Given the description of an element on the screen output the (x, y) to click on. 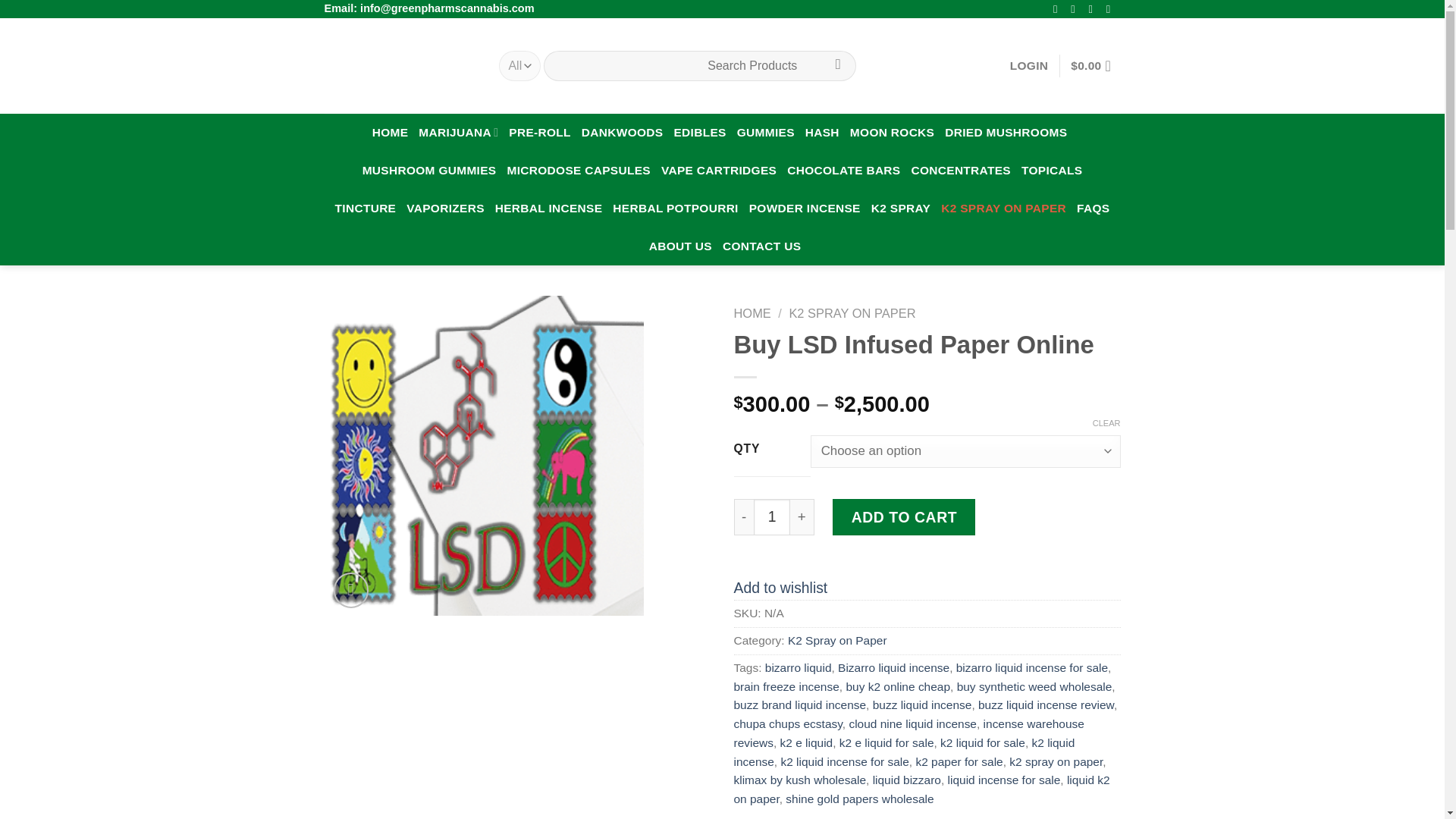
Follow on Twitter (1093, 9)
VAPE CARTRIDGES (718, 170)
Green Pharms Cannabis - Green Pharms Cannabis (400, 65)
HASH (822, 132)
Cart (1094, 65)
POWDER INCENSE (804, 208)
K2 SPRAY (900, 208)
VAPORIZERS (445, 208)
Send us an email (1112, 9)
CHOCOLATE BARS (843, 170)
